Given the description of an element on the screen output the (x, y) to click on. 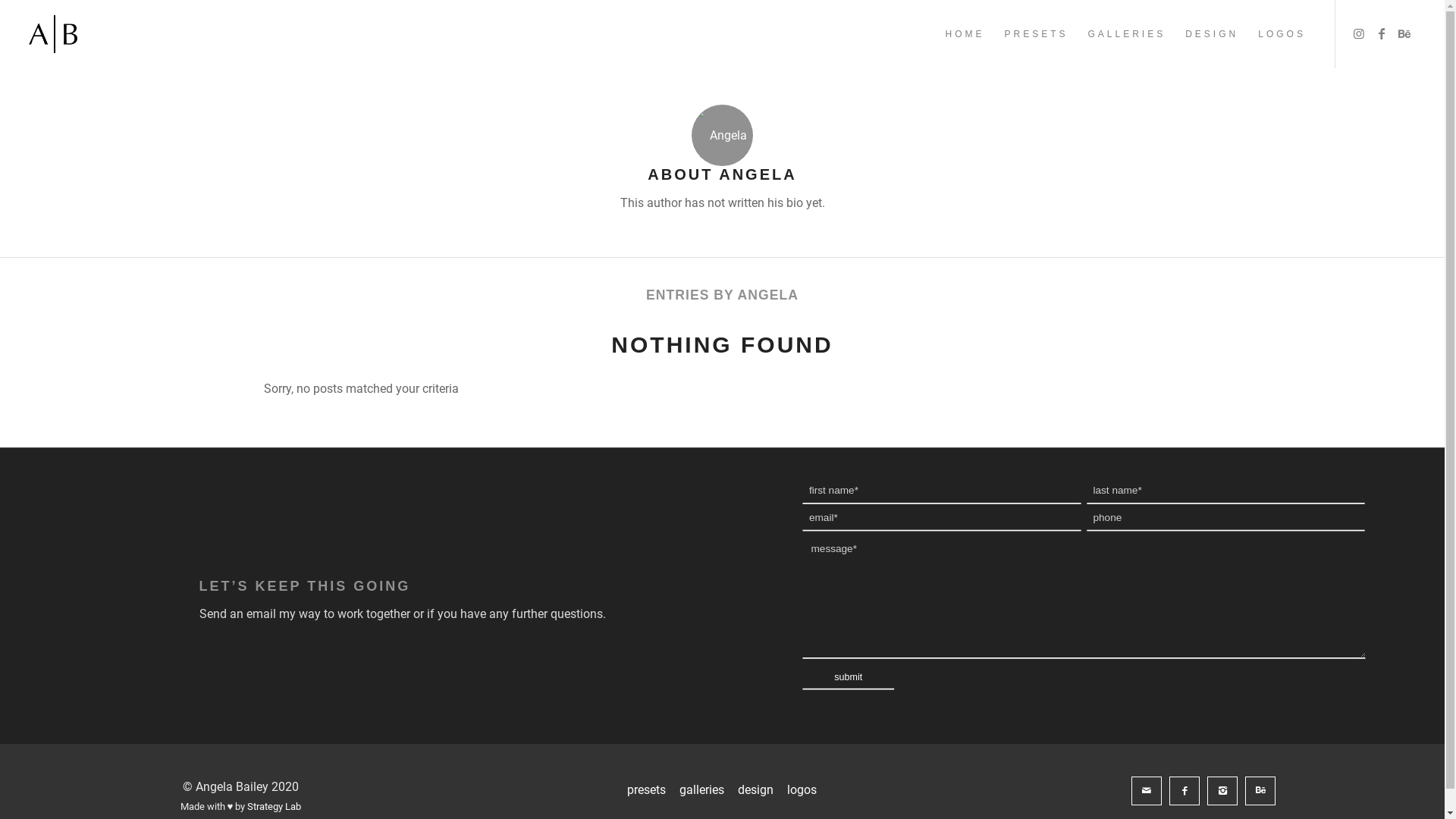
submit Element type: text (856, 679)
galleries Element type: text (701, 791)
HOME Element type: text (964, 34)
Facebook Element type: hover (1381, 32)
Instagram Element type: hover (1358, 32)
Strategy Lab Element type: text (274, 806)
PRESETS Element type: text (1035, 34)
presets Element type: text (646, 791)
DESIGN Element type: text (1211, 34)
design Element type: text (755, 791)
logos Element type: text (801, 791)
LOGOS Element type: text (1281, 34)
GALLERIES Element type: text (1126, 34)
Behance Element type: hover (1404, 32)
